Given the description of an element on the screen output the (x, y) to click on. 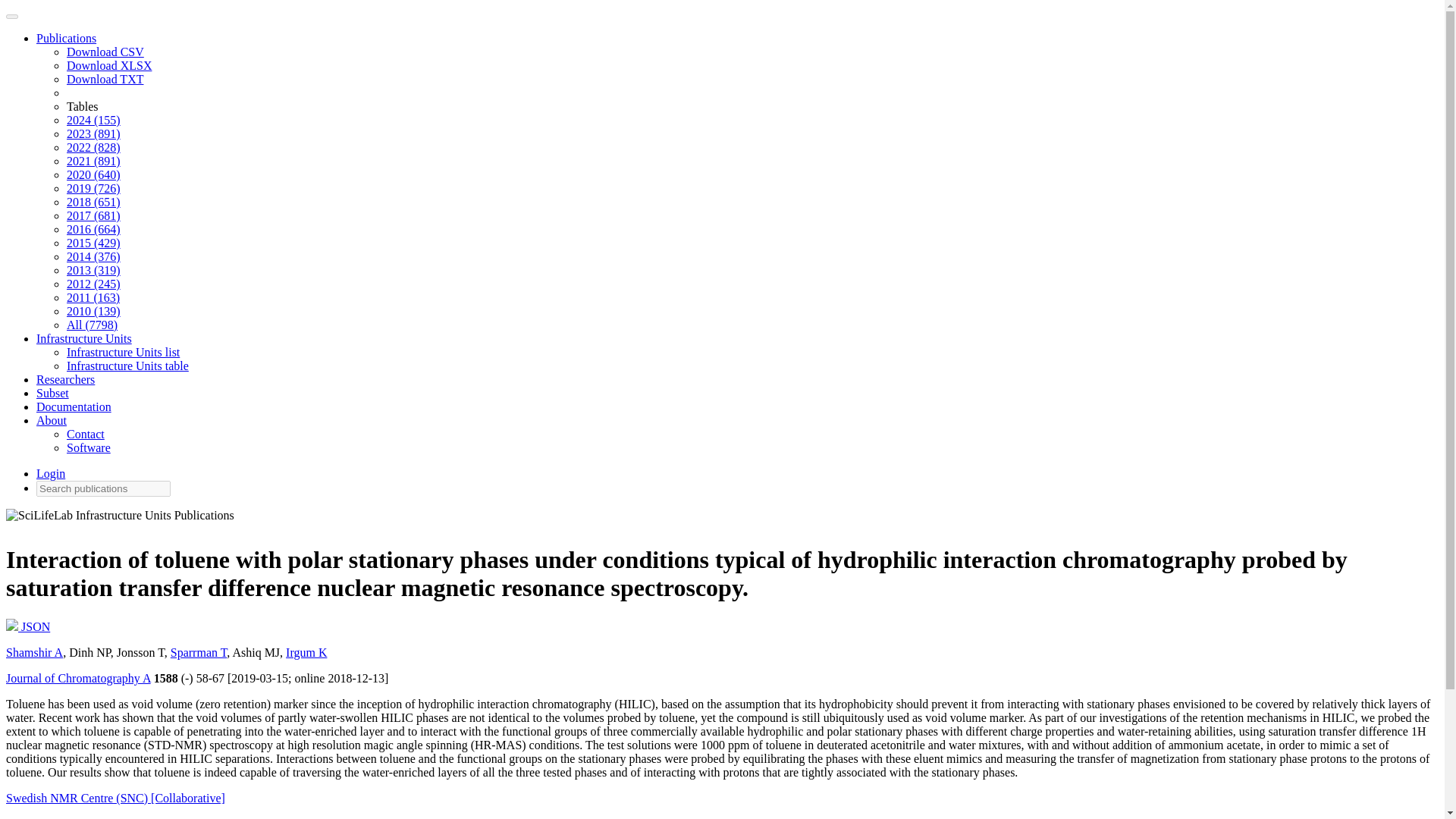
Subset (52, 392)
Researchers (65, 379)
Infrastructure Units list (122, 351)
Documentation (74, 406)
Contact (85, 433)
SciLifeLab Infrastructure Units Publications (119, 518)
JSON (27, 626)
Irgum K (305, 652)
Download XLSX (108, 65)
Login (50, 472)
Publications (66, 38)
Download TXT (104, 78)
Shamshir A (33, 652)
Infrastructure Units table (127, 365)
Infrastructure Units (84, 338)
